Given the description of an element on the screen output the (x, y) to click on. 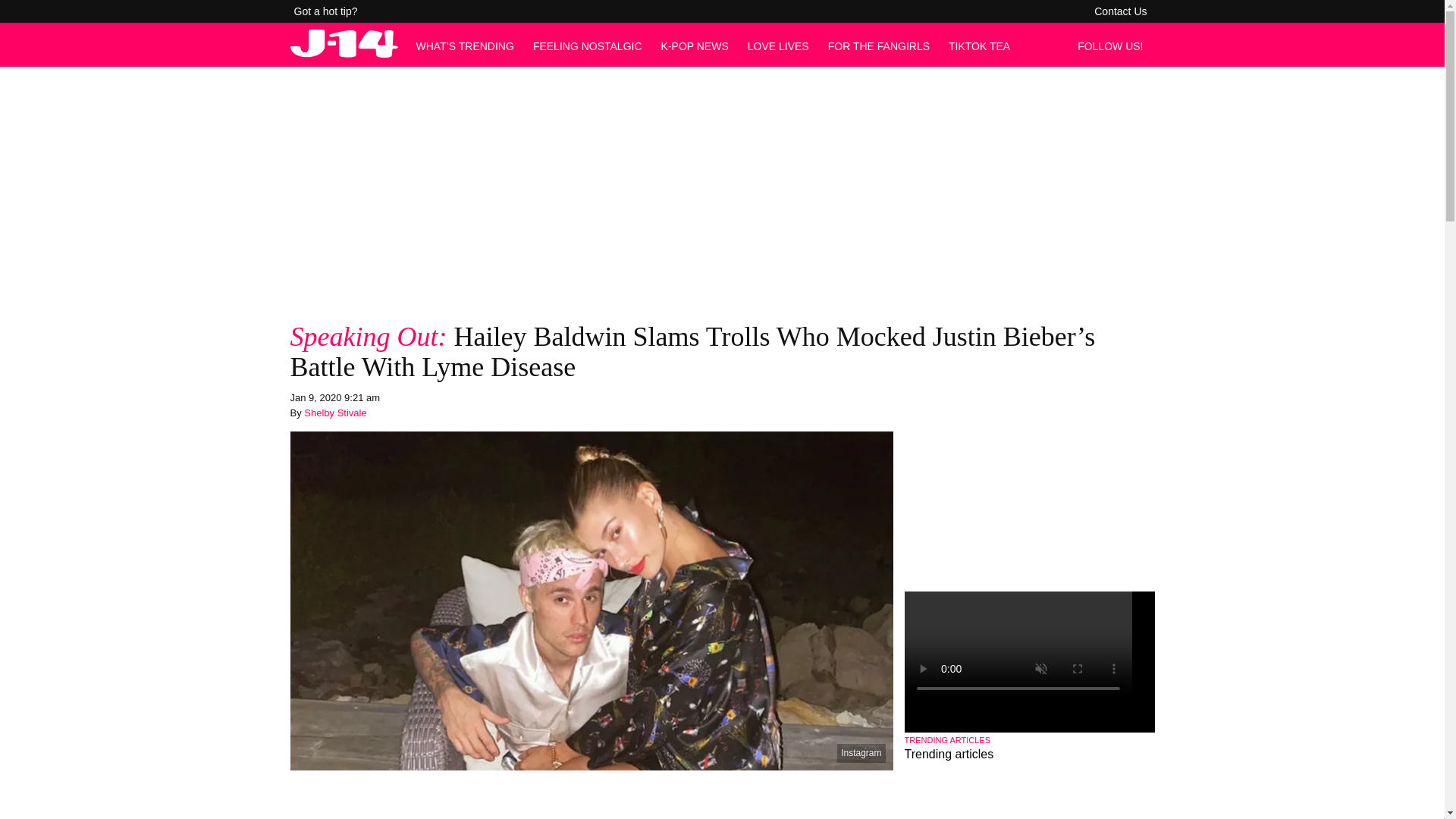
FOR THE FANGIRLS (879, 46)
LOVE LIVES (778, 46)
Shelby Stivale (335, 412)
Contact Us (1120, 11)
K-POP NEWS (695, 46)
Got a hot tip? (325, 11)
TIKTOK TEA (979, 46)
FEELING NOSTALGIC (587, 46)
Home (343, 52)
FOLLOW US! (1114, 45)
